Given the description of an element on the screen output the (x, y) to click on. 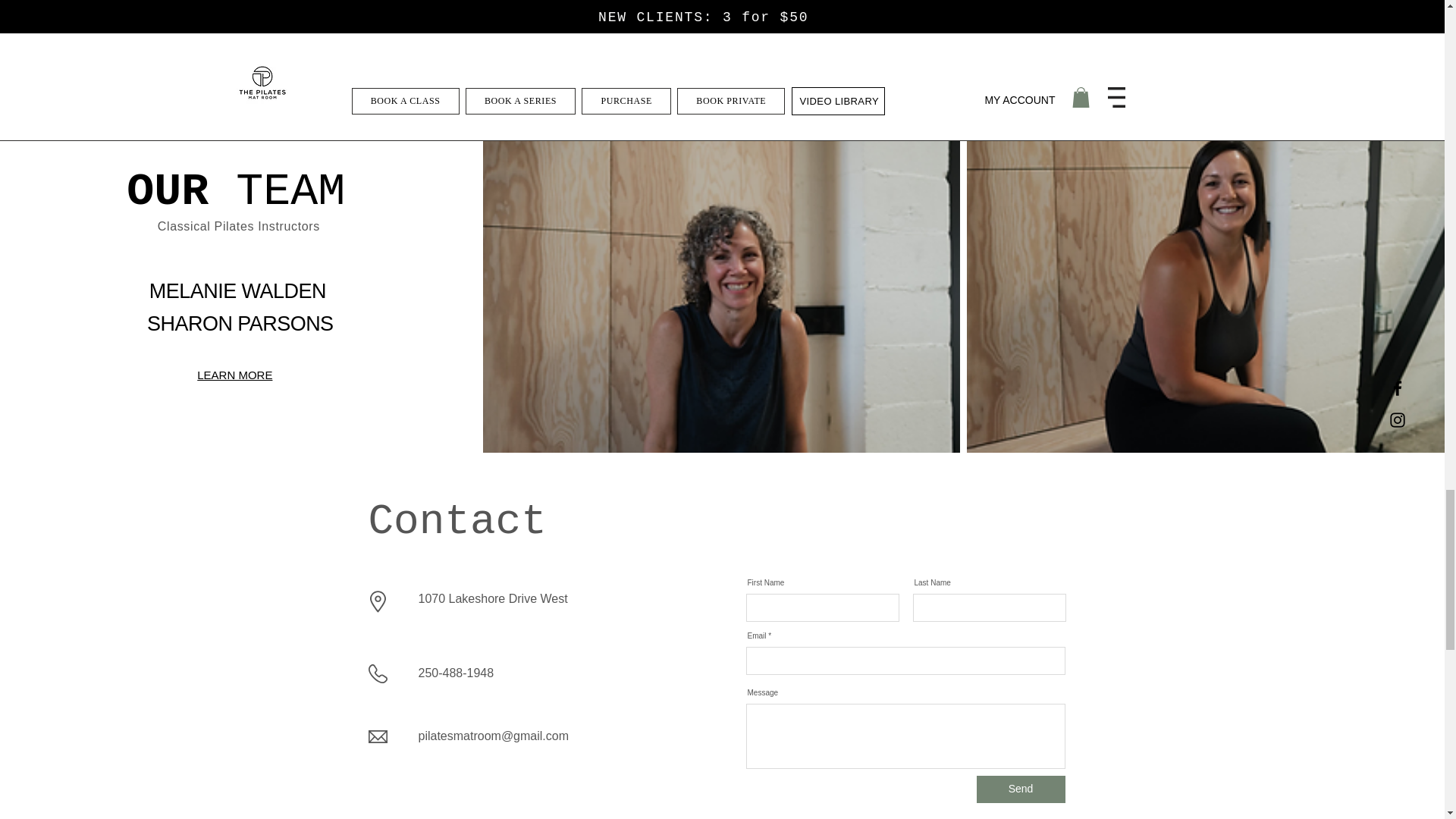
LEARN MORE (234, 374)
JOIN STUDIO (721, 18)
Send (1020, 789)
